Given the description of an element on the screen output the (x, y) to click on. 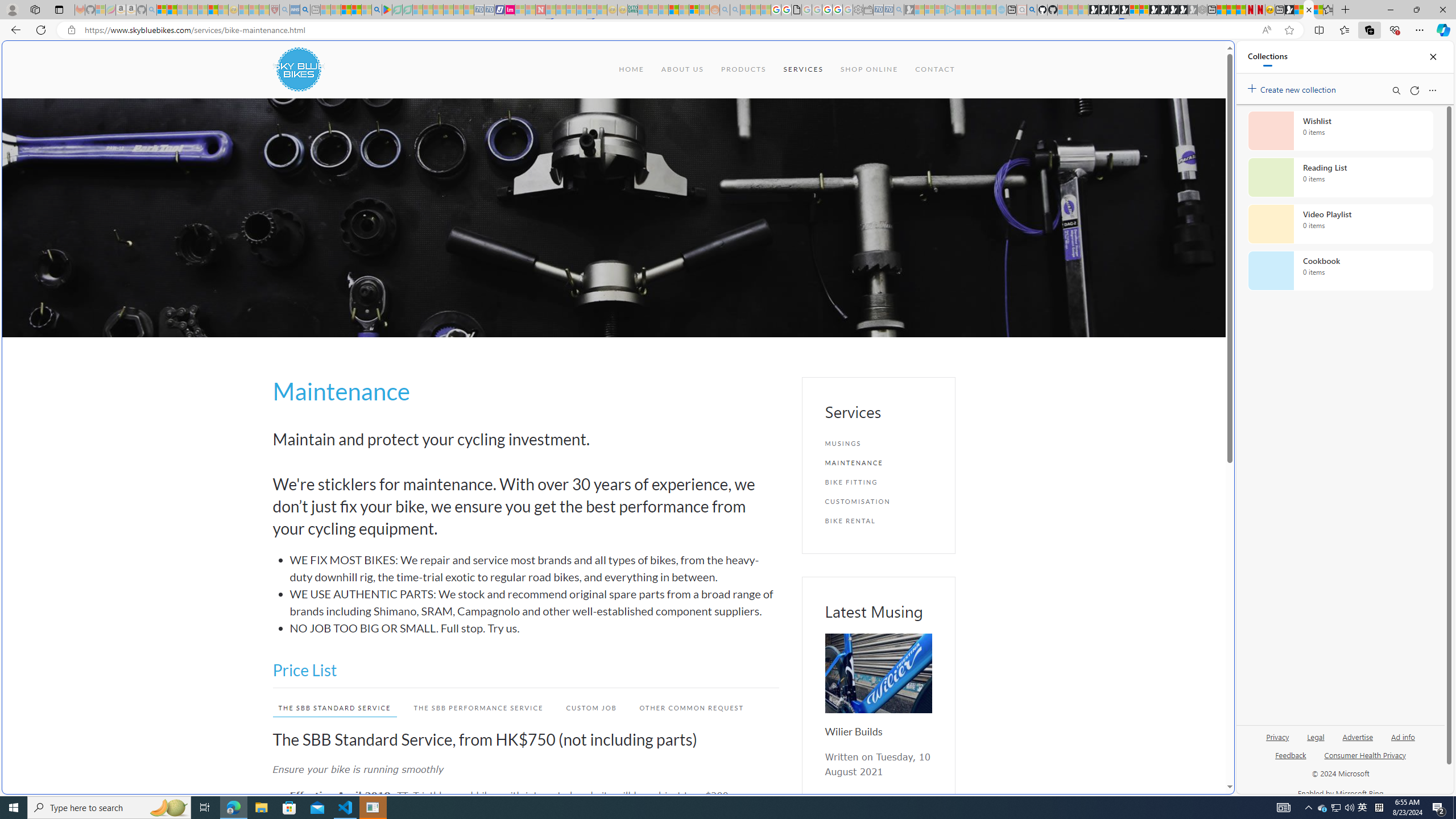
MSN (1118, 536)
Workspaces (34, 9)
Ad info (1402, 741)
Address and search bar (669, 29)
OTHER COMMON REQUEST (685, 707)
Jobs - lastminute.com Investor Portal (509, 9)
Services - Maintenance | Sky Blue Bikes - Sky Blue Bikes (1307, 9)
google_privacy_policy_zh-CN.pdf (1118, 683)
Privacy (1277, 741)
Play Cave FRVR in your browser | Games from Microsoft Start (1113, 9)
Create new collection (1293, 87)
Search or enter web address (922, 108)
MUSINGS (878, 443)
SERVICES (802, 68)
